Given the description of an element on the screen output the (x, y) to click on. 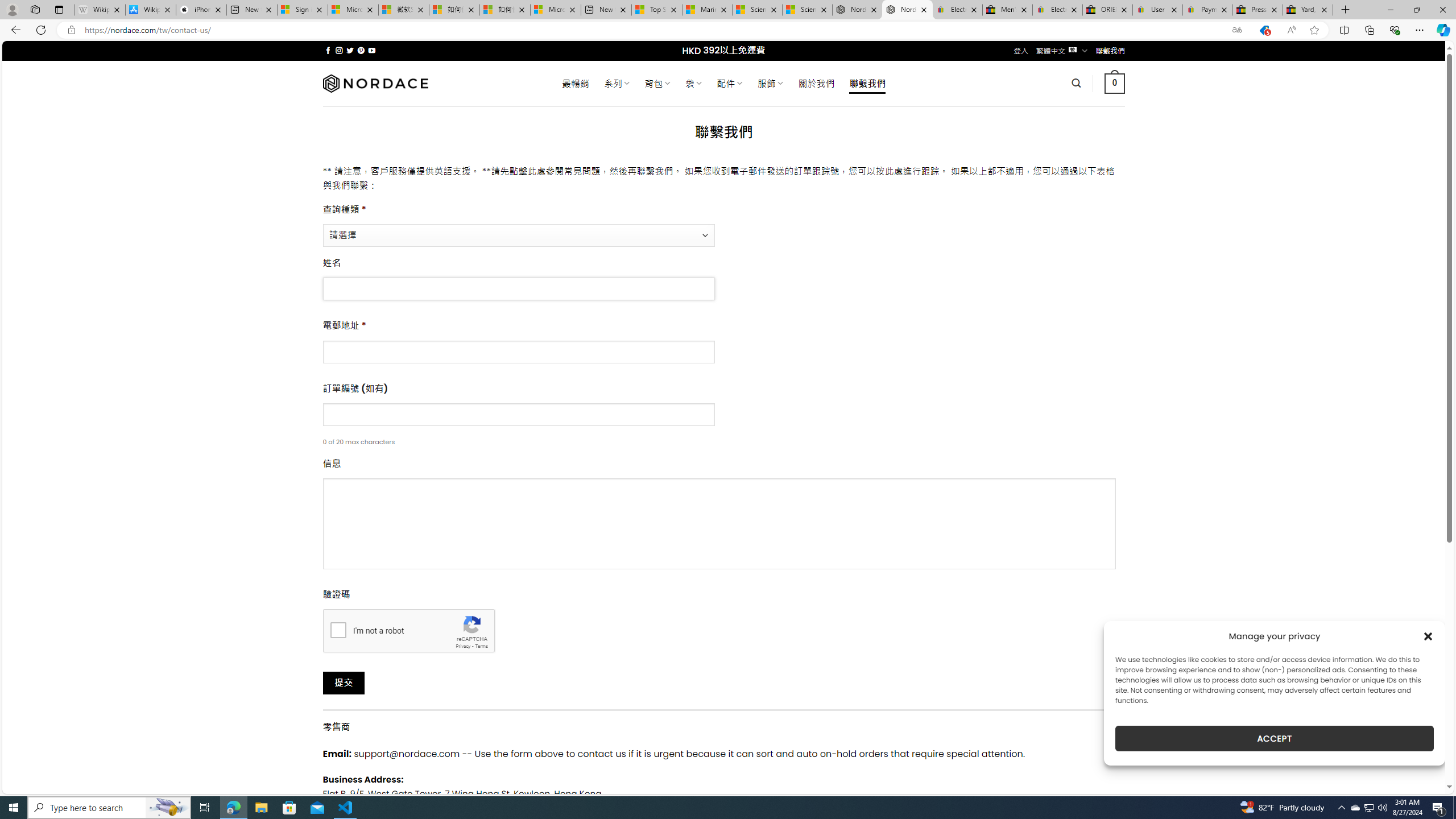
Marine life - MSN (706, 9)
Electronics, Cars, Fashion, Collectibles & More | eBay (1057, 9)
Microsoft account | Account Checkup (555, 9)
Show translate options (1236, 29)
User Privacy Notice | eBay (1158, 9)
